Given the description of an element on the screen output the (x, y) to click on. 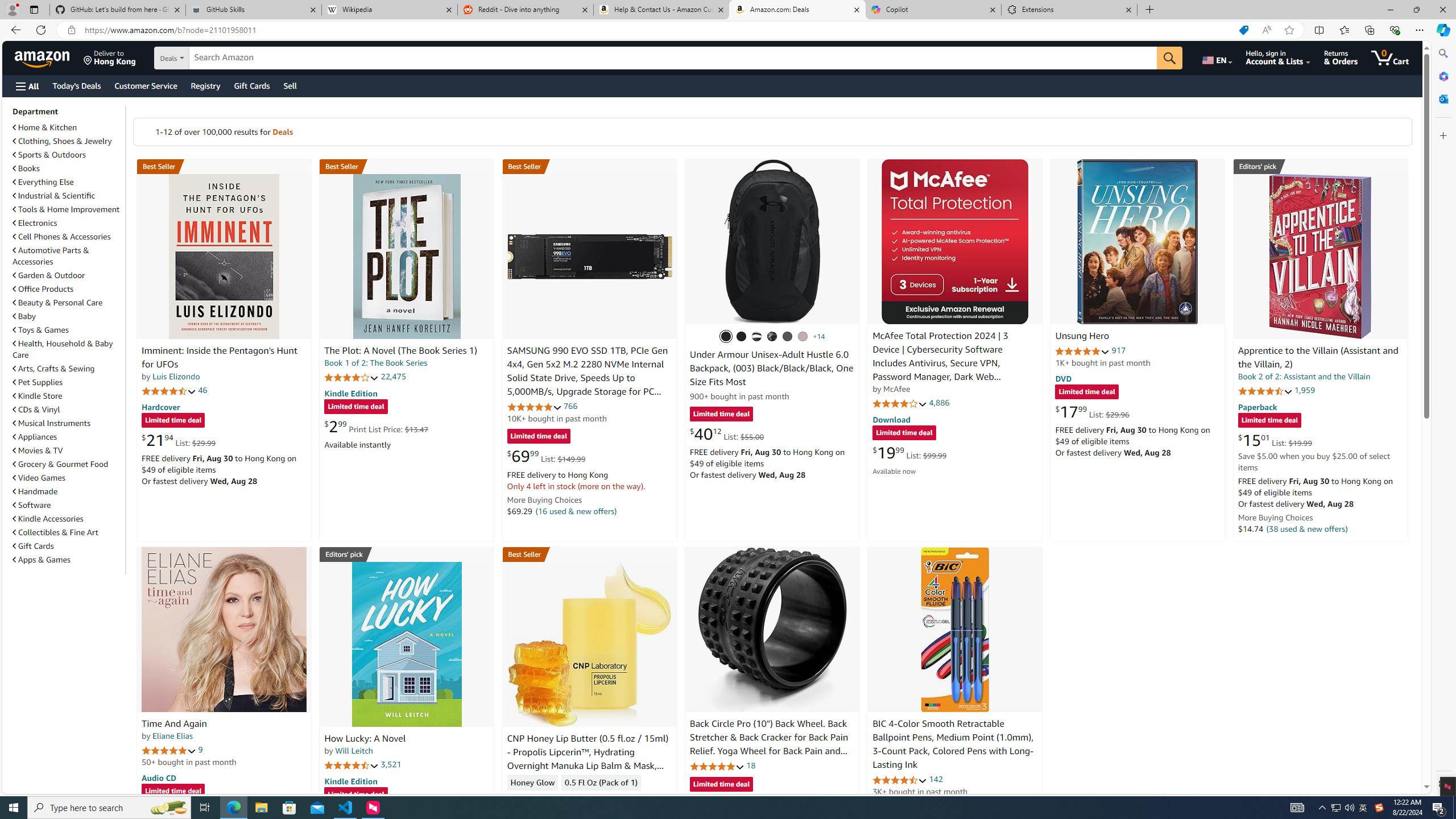
(015) Tetra Gray / Tetra Gray / Gray Matter (802, 336)
Kindle Store (37, 395)
Video Games (39, 477)
4.7 out of 5 stars (168, 390)
Time And Again (224, 628)
Best Seller in Heist Thrillers (406, 165)
Software (31, 504)
Garden & Outdoor (49, 275)
(005) Black Full Heather / Black / Metallic Gold (788, 336)
Will Leitch (353, 750)
Choose a language for shopping. (1216, 57)
Cell Phones & Accessories (67, 236)
